Given the description of an element on the screen output the (x, y) to click on. 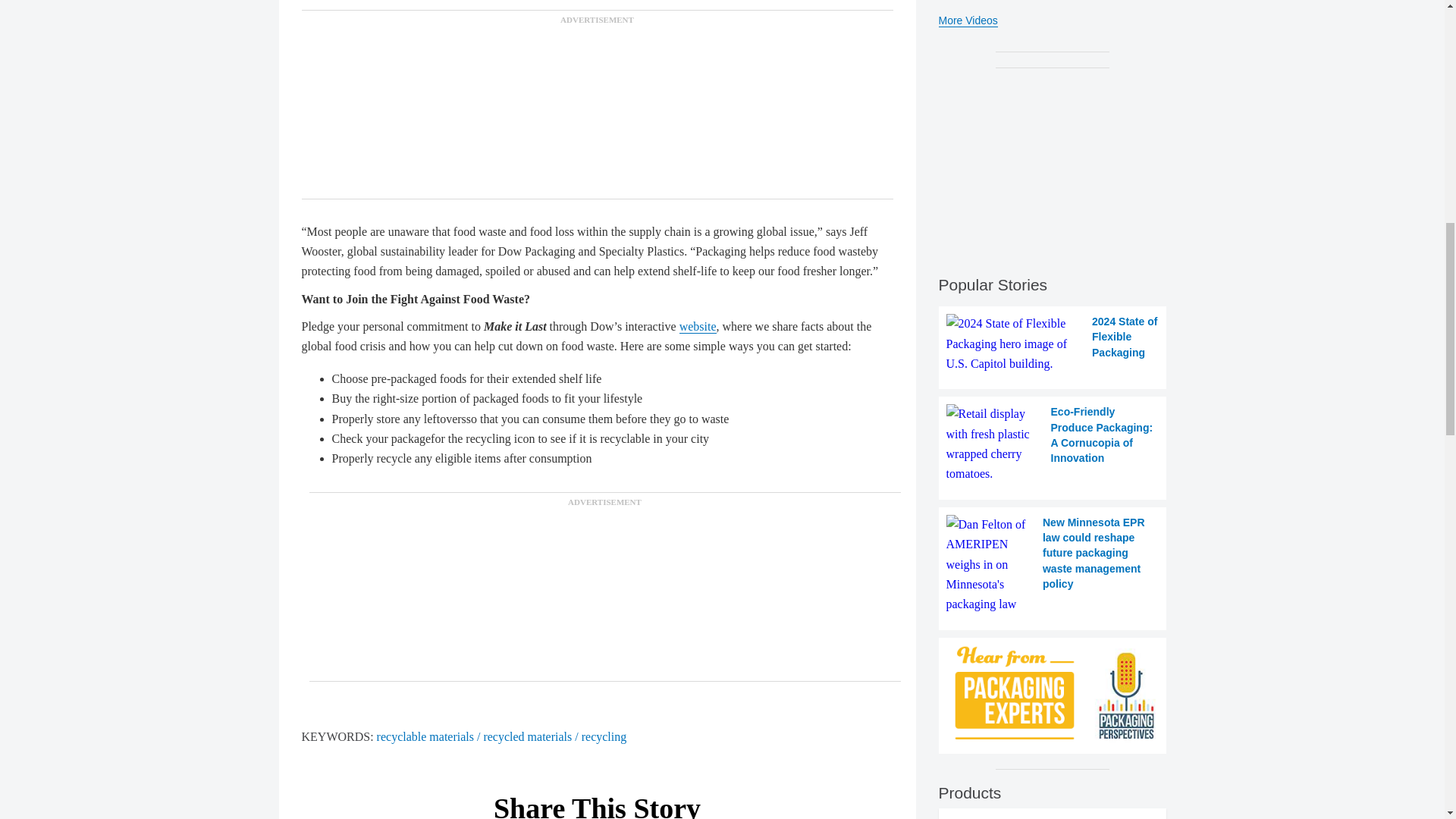
2024 State of Flexible Packaging (1052, 343)
Eco-Friendly Produce Packaging: A Cornucopia of Innovation (1052, 444)
